Given the description of an element on the screen output the (x, y) to click on. 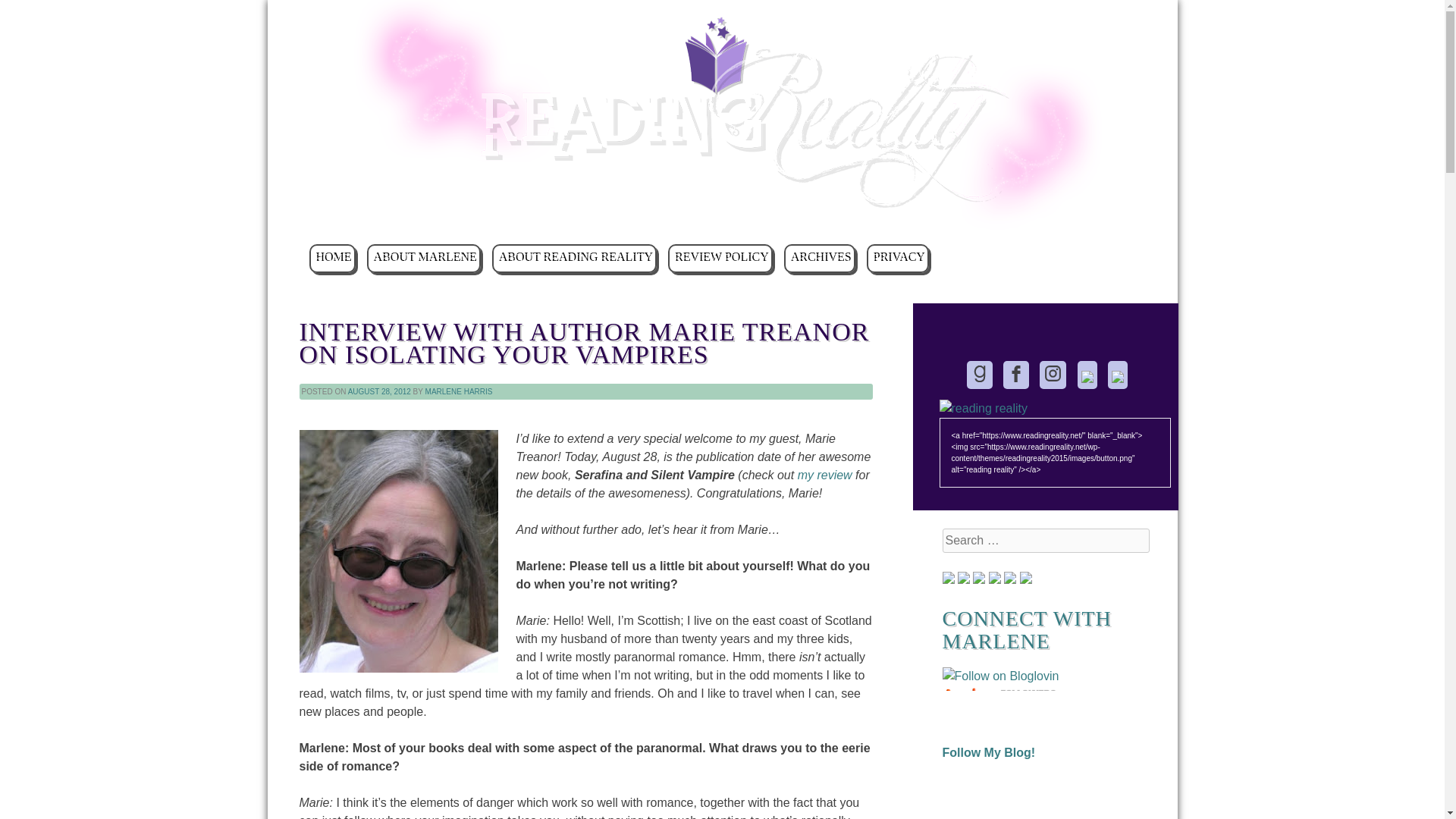
MARLENE HARRIS (459, 391)
ABOUT READING REALITY (574, 258)
AUGUST 28, 2012 (378, 391)
Follow Escape Reality, Read Fiction! on Bloglovin (1000, 675)
HOME (331, 258)
my review (824, 474)
PRIVACY (897, 258)
REVIEW POLICY (720, 258)
ARCHIVES (820, 258)
ABOUT MARLENE (423, 258)
